Given the description of an element on the screen output the (x, y) to click on. 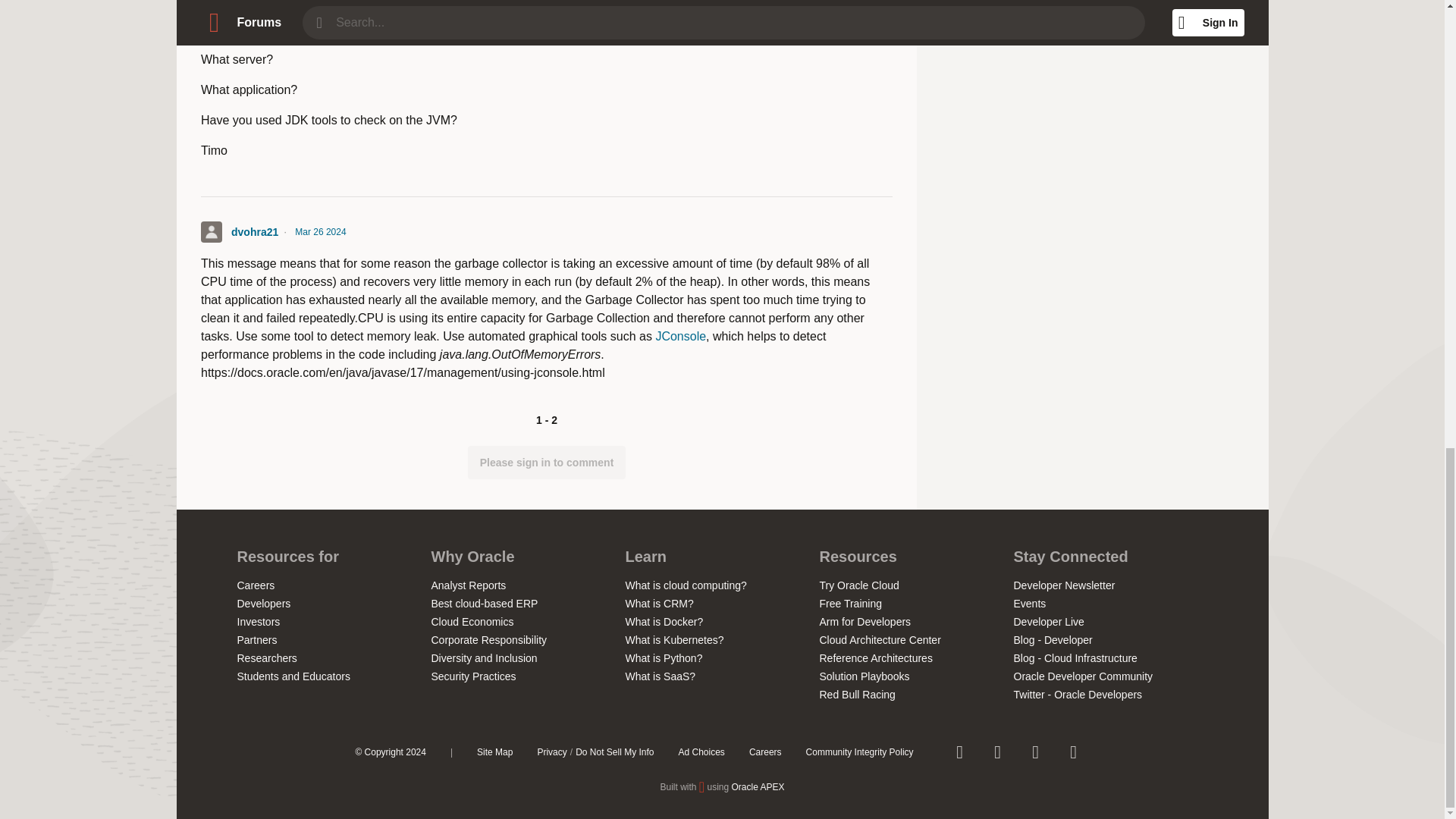
Developers (262, 603)
Cloud Economics (471, 621)
Partners (255, 639)
14 Mar 2024 05:45 pm (328, 28)
Timo Hahn (257, 28)
Please sign in to comment (546, 462)
Best cloud-based ERP (483, 603)
Investors (257, 621)
Timo Hahn's Profile Page (210, 27)
Researchers (266, 657)
